Given the description of an element on the screen output the (x, y) to click on. 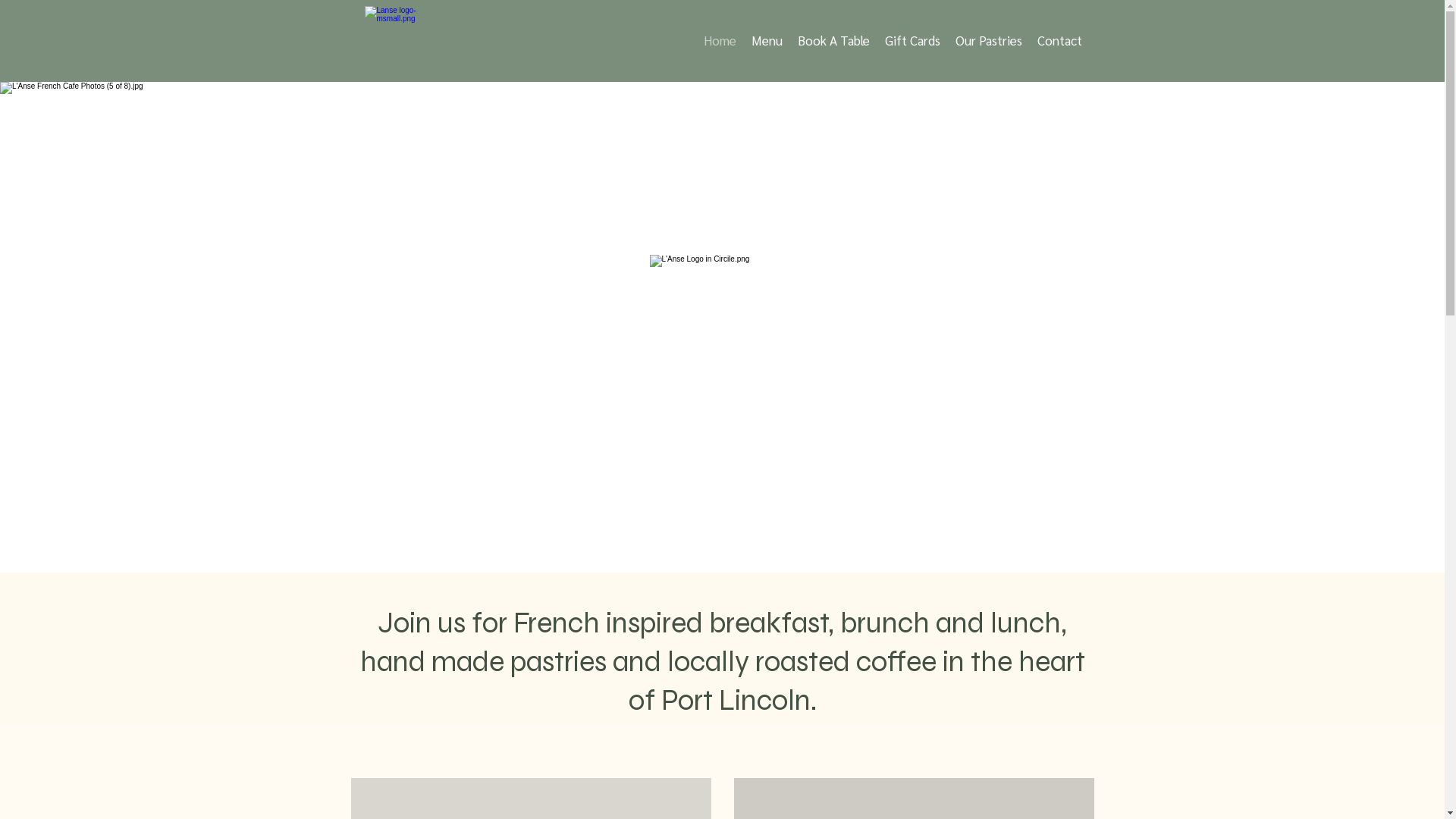
Book A Table Element type: text (833, 39)
Home Element type: text (719, 39)
Contact Element type: text (1059, 39)
Our Pastries Element type: text (988, 39)
Menu Element type: text (766, 39)
Gift Cards Element type: text (911, 39)
